Given the description of an element on the screen output the (x, y) to click on. 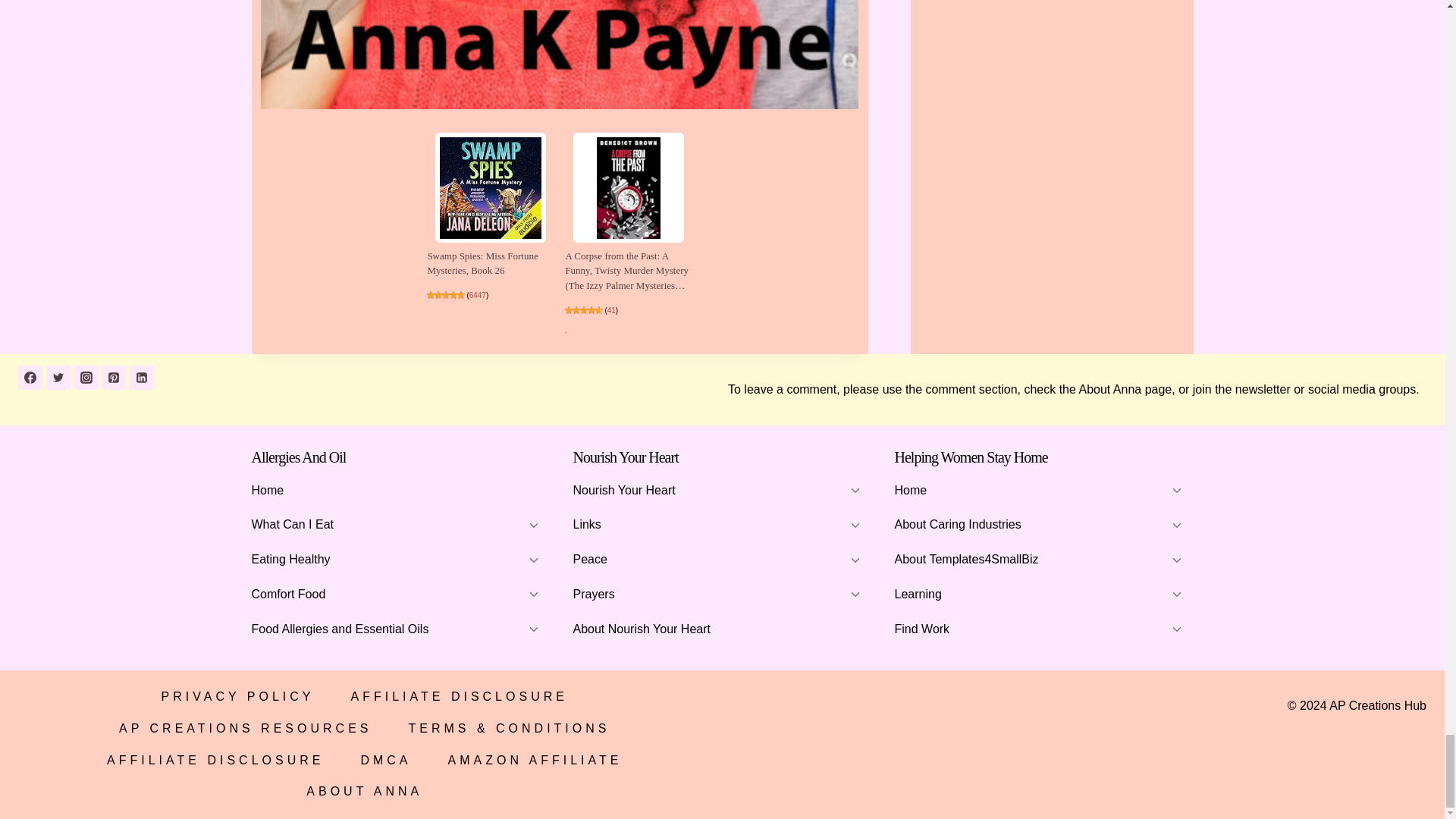
Swamp Spies: Miss Fortune Mysteries, Book 26:  (481, 263)
Swamp Spies: Miss Fortune Mysteries, Book 26:  (489, 187)
